Given the description of an element on the screen output the (x, y) to click on. 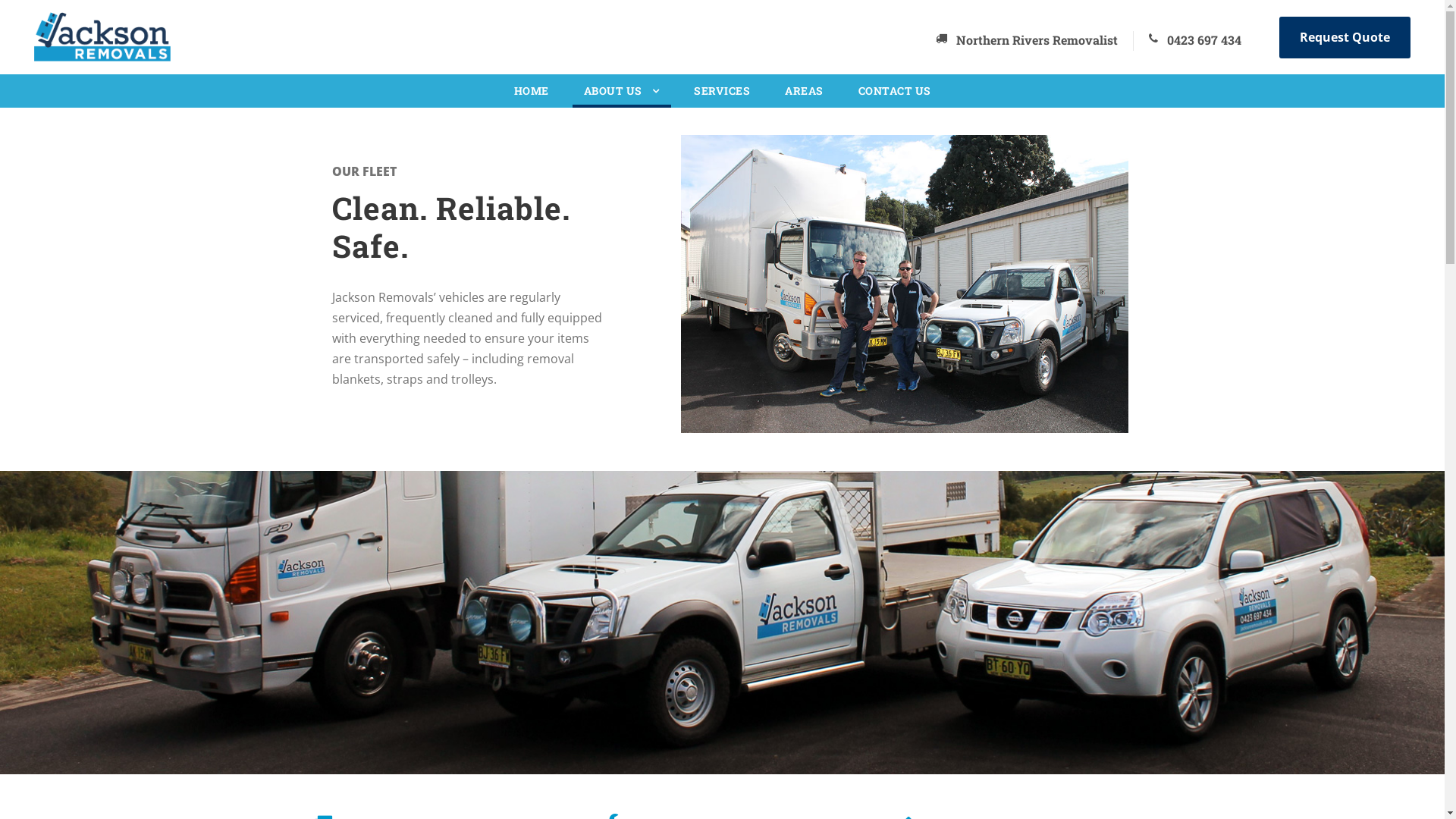
CONTACT US Element type: text (894, 94)
Request Quote Element type: text (1344, 37)
ABOUT US Element type: text (621, 94)
SERVICES Element type: text (721, 94)
HOME Element type: text (531, 94)
AREAS Element type: text (803, 94)
